Given the description of an element on the screen output the (x, y) to click on. 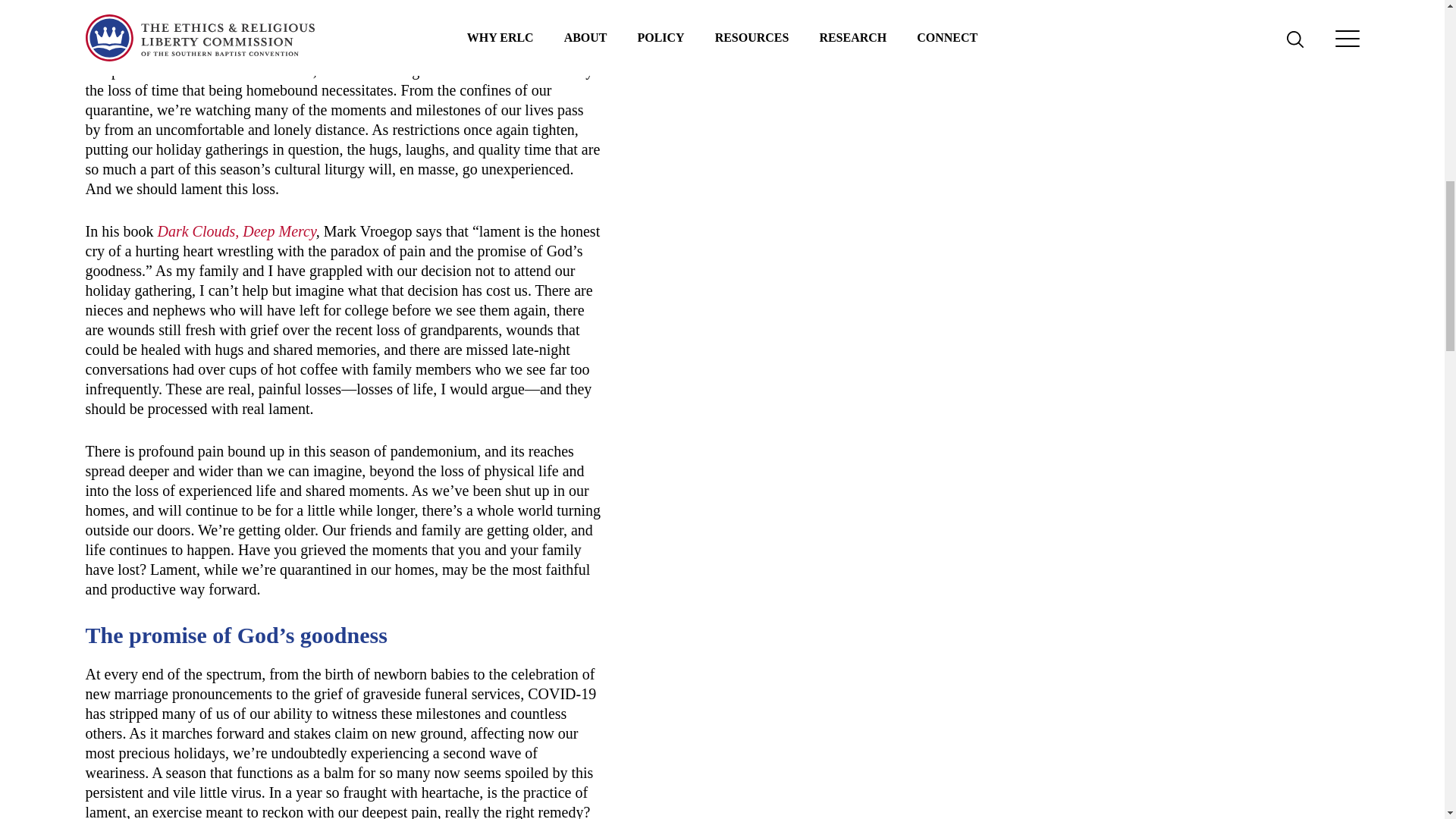
Dark Clouds, Deep Mercy (236, 230)
